Given the description of an element on the screen output the (x, y) to click on. 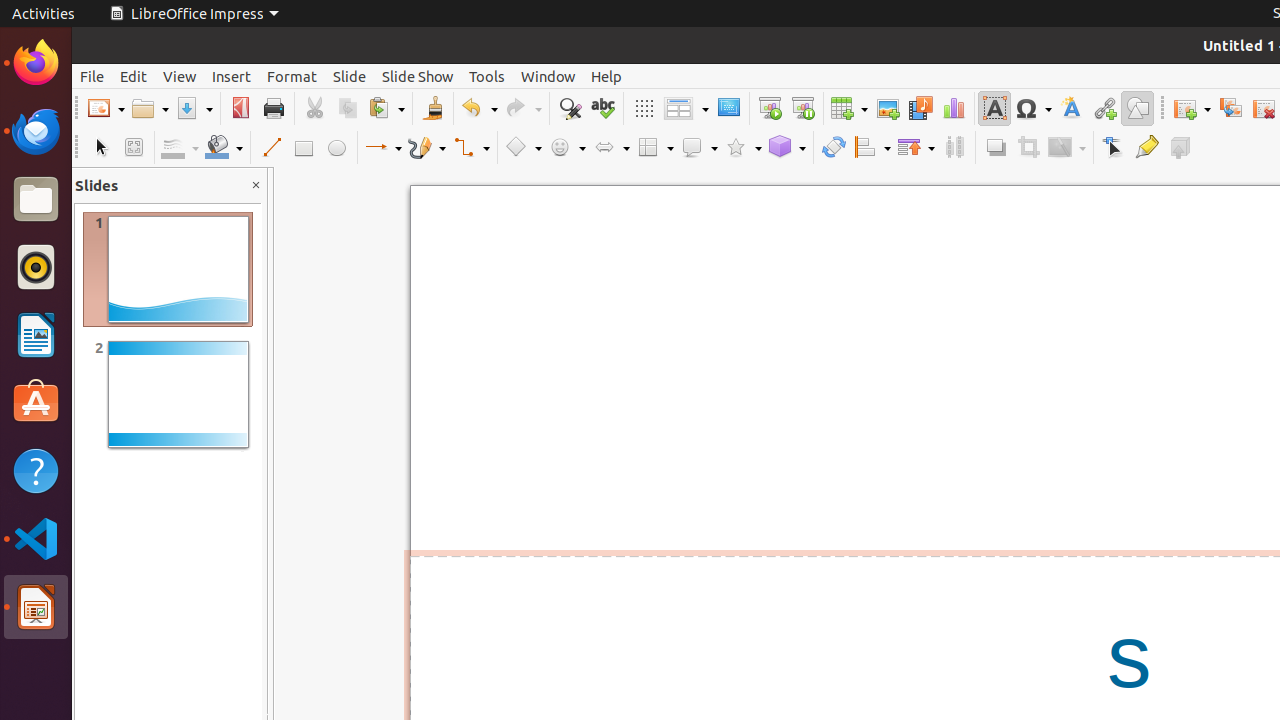
LibreOffice Impress Element type: push-button (36, 607)
Format Element type: menu (292, 76)
Chart Element type: push-button (953, 108)
Thunderbird Mail Element type: push-button (36, 131)
